Given the description of an element on the screen output the (x, y) to click on. 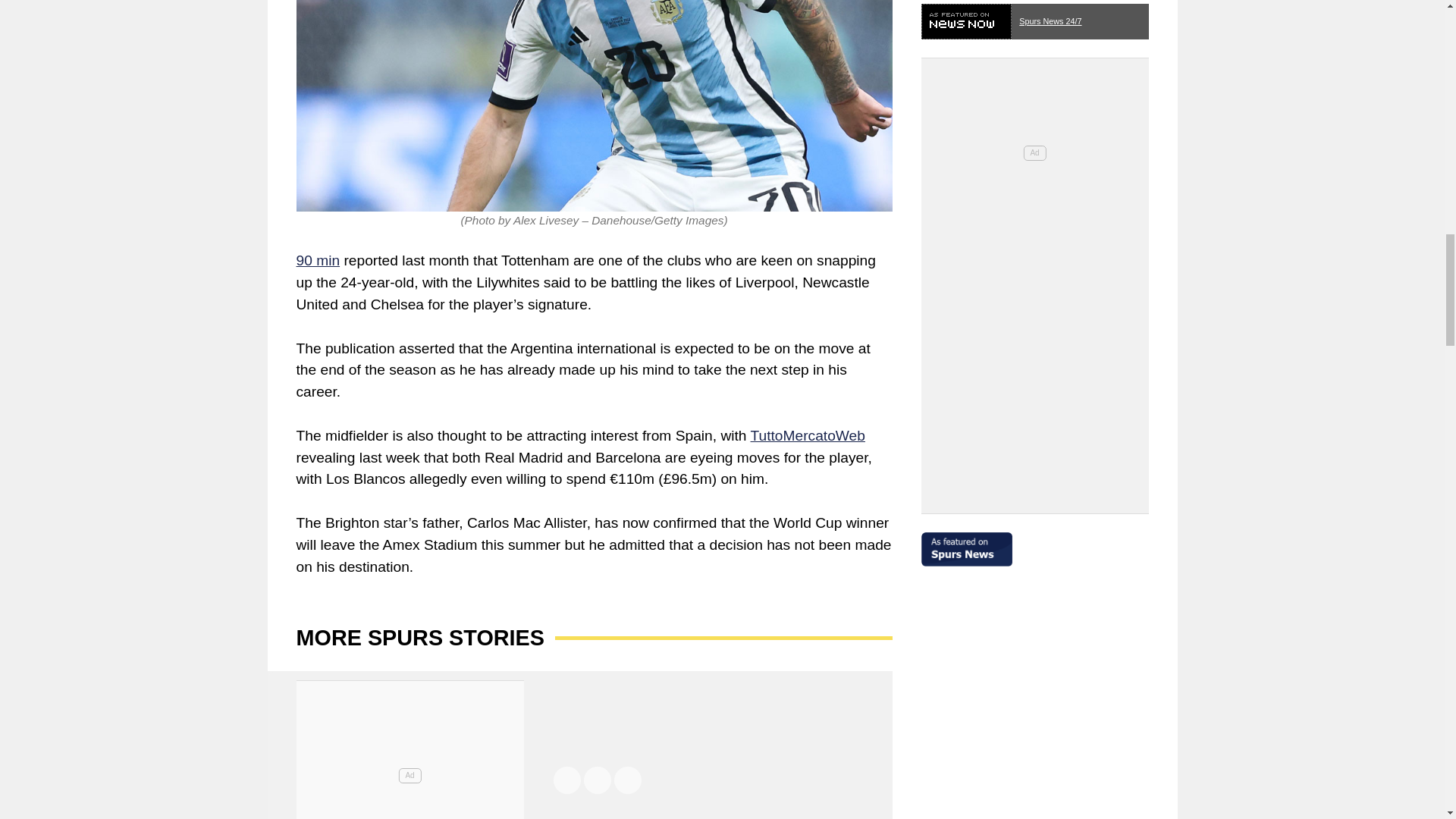
TuttoMercatoWeb (807, 435)
90 min (317, 260)
